Given the description of an element on the screen output the (x, y) to click on. 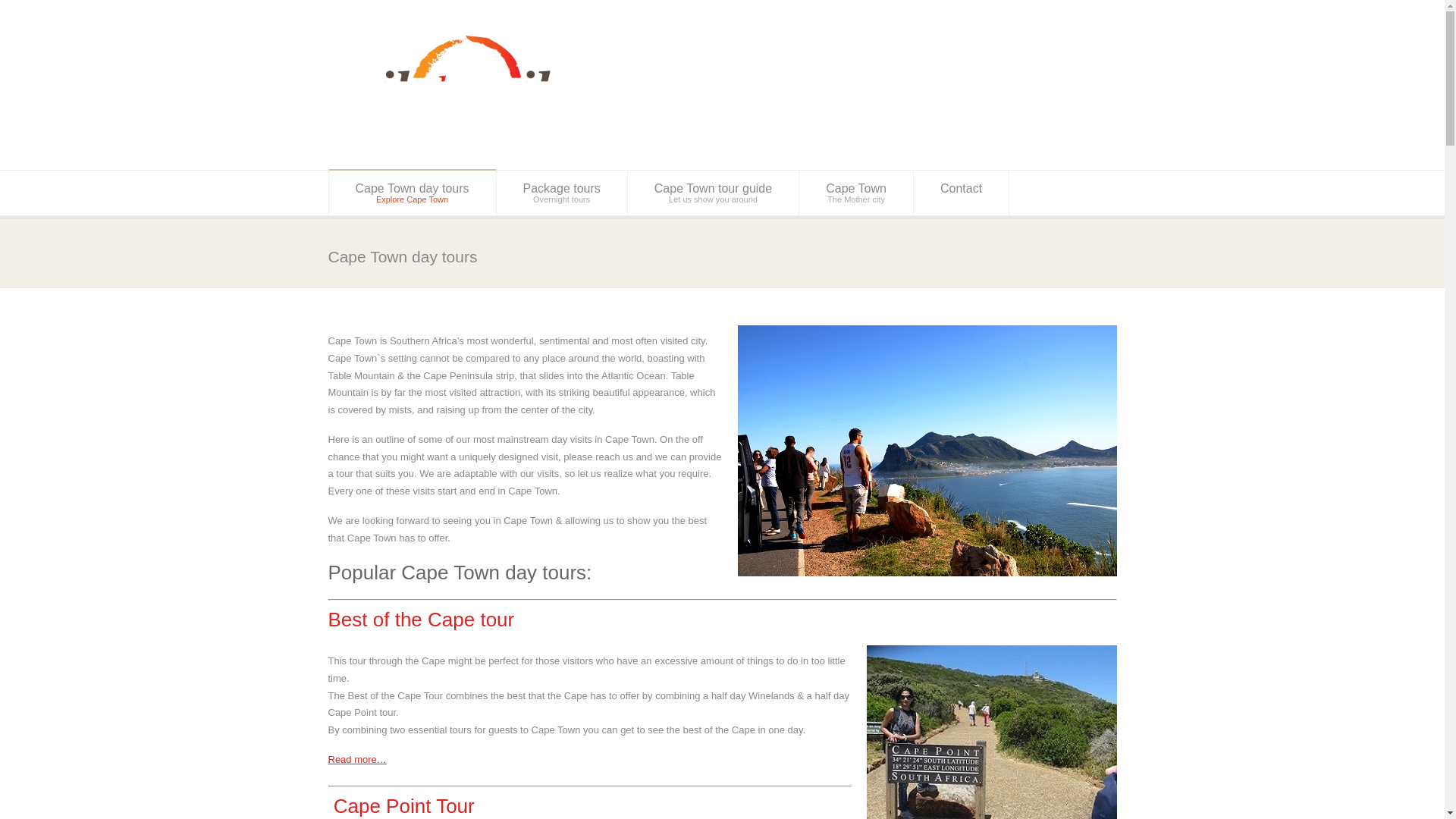
Best of the Cape tour (420, 619)
Mile by Mile tours Cape Town (412, 192)
Cape Point Tour (561, 192)
